Given the description of an element on the screen output the (x, y) to click on. 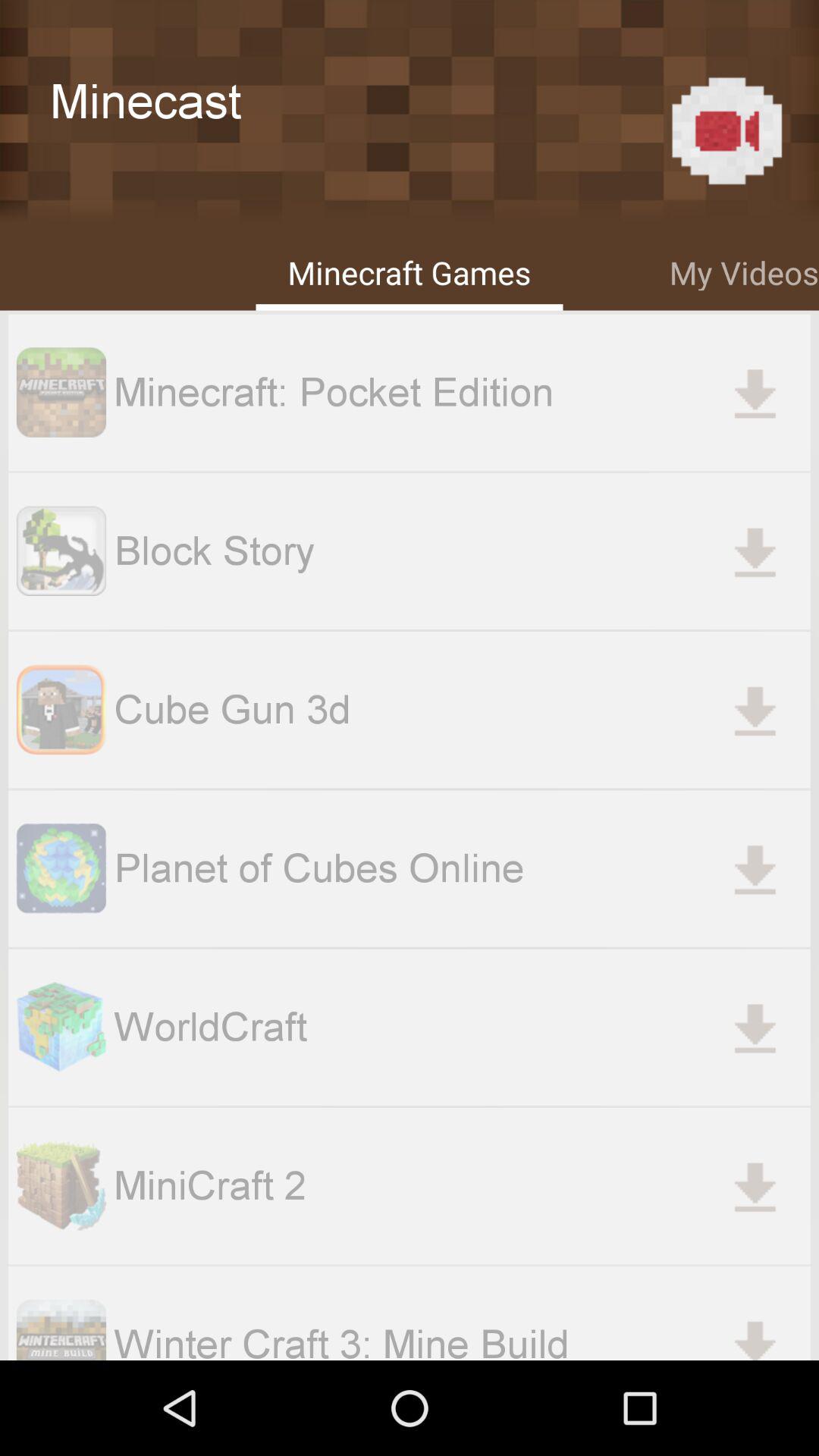
swipe until the cube gun 3d item (462, 709)
